Given the description of an element on the screen output the (x, y) to click on. 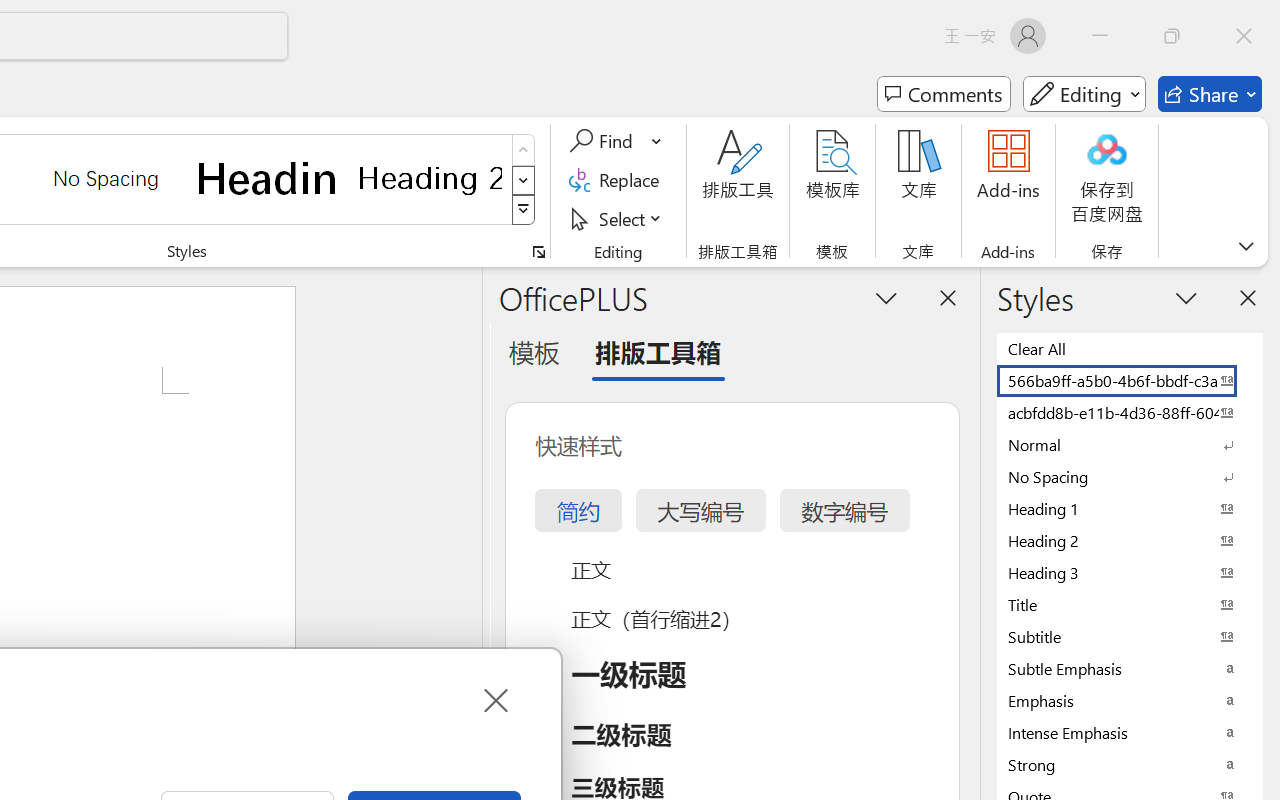
Normal (1130, 444)
566ba9ff-a5b0-4b6f-bbdf-c3ab41993fc2 (1130, 380)
Task Pane Options (886, 297)
Clear All (1130, 348)
Find (604, 141)
Restore Down (1172, 36)
Find (616, 141)
Minimize (1099, 36)
Heading 3 (1130, 572)
Replace... (617, 179)
Row up (523, 150)
Title (1130, 604)
